Given the description of an element on the screen output the (x, y) to click on. 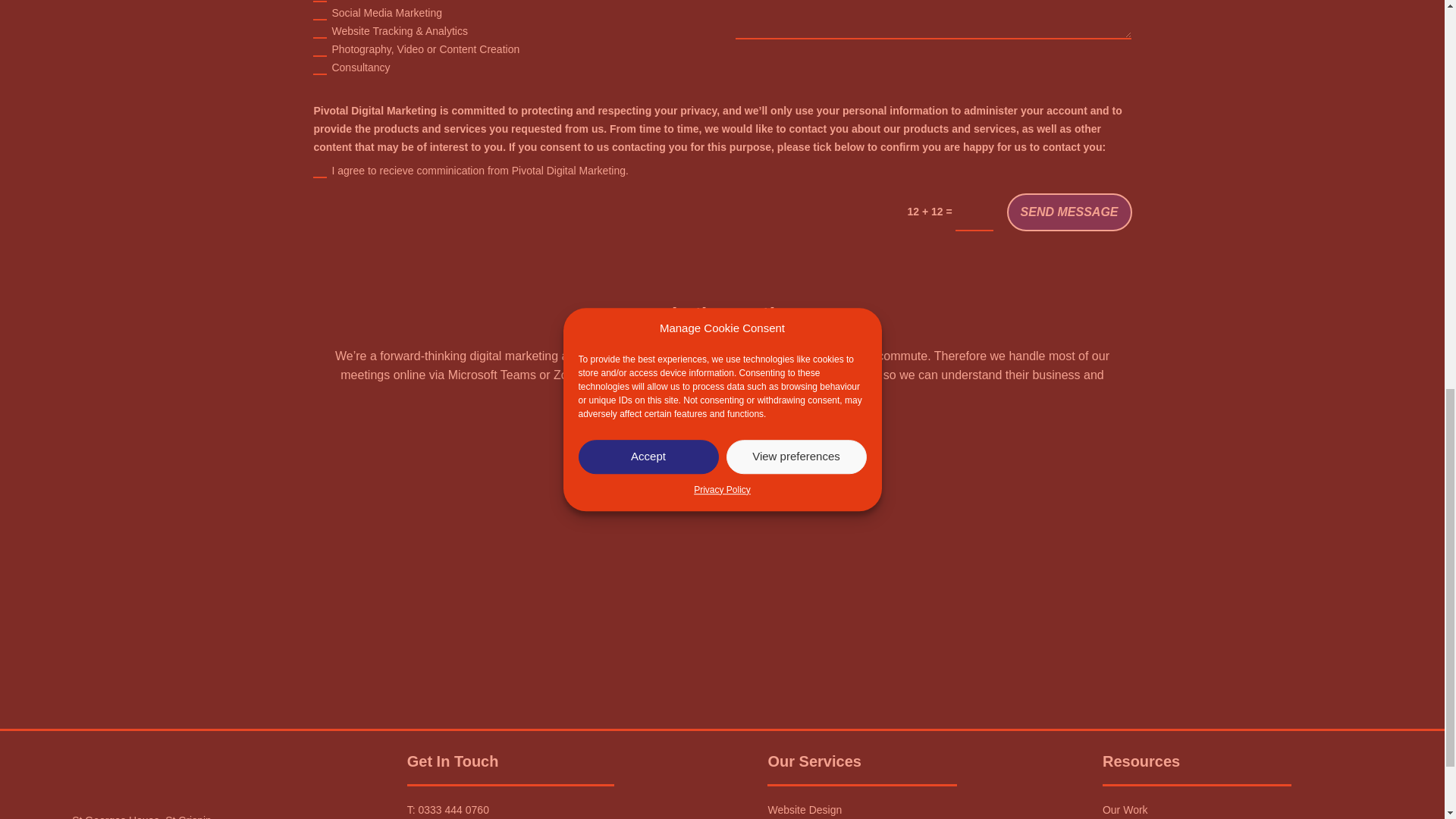
Accept (647, 17)
SEND MESSAGE (1069, 211)
T: 0333 444 0760 (448, 809)
